Given the description of an element on the screen output the (x, y) to click on. 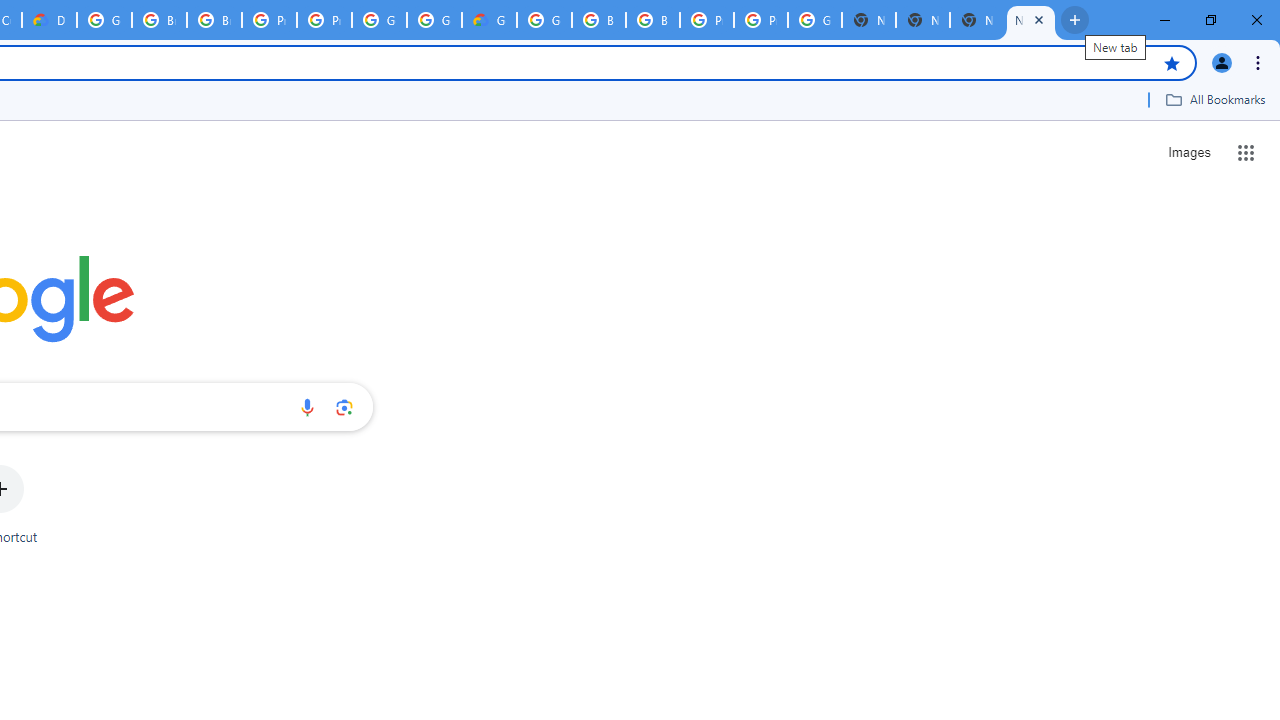
Google Cloud Platform (434, 20)
Google Cloud Platform (103, 20)
Browse Chrome as a guest - Computer - Google Chrome Help (158, 20)
Google Cloud Platform (815, 20)
Browse Chrome as a guest - Computer - Google Chrome Help (598, 20)
Google Cloud Platform (379, 20)
Google Cloud Platform (544, 20)
New Tab (922, 20)
